Given the description of an element on the screen output the (x, y) to click on. 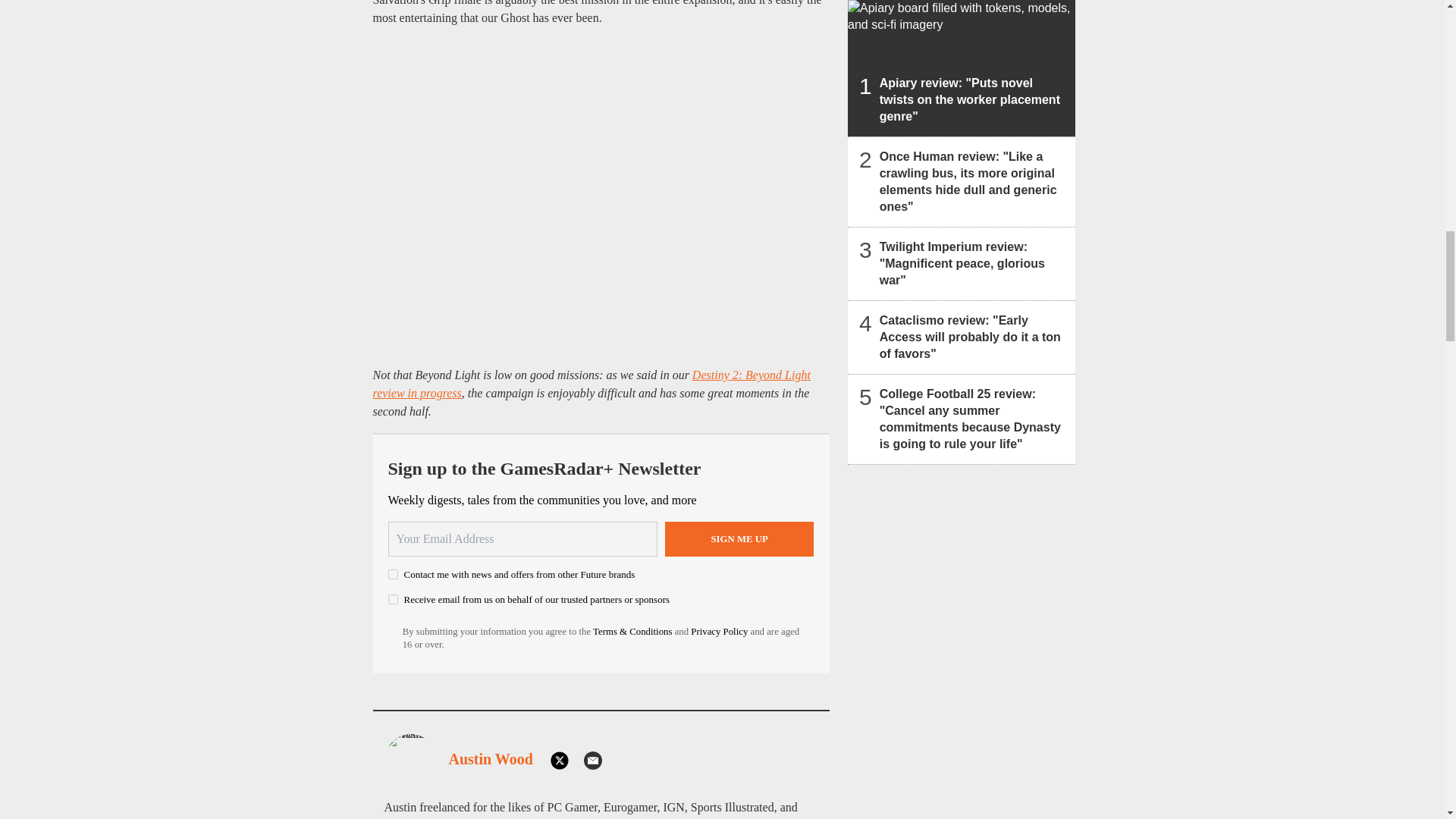
on (392, 599)
on (392, 574)
Sign me up (739, 538)
